Given the description of an element on the screen output the (x, y) to click on. 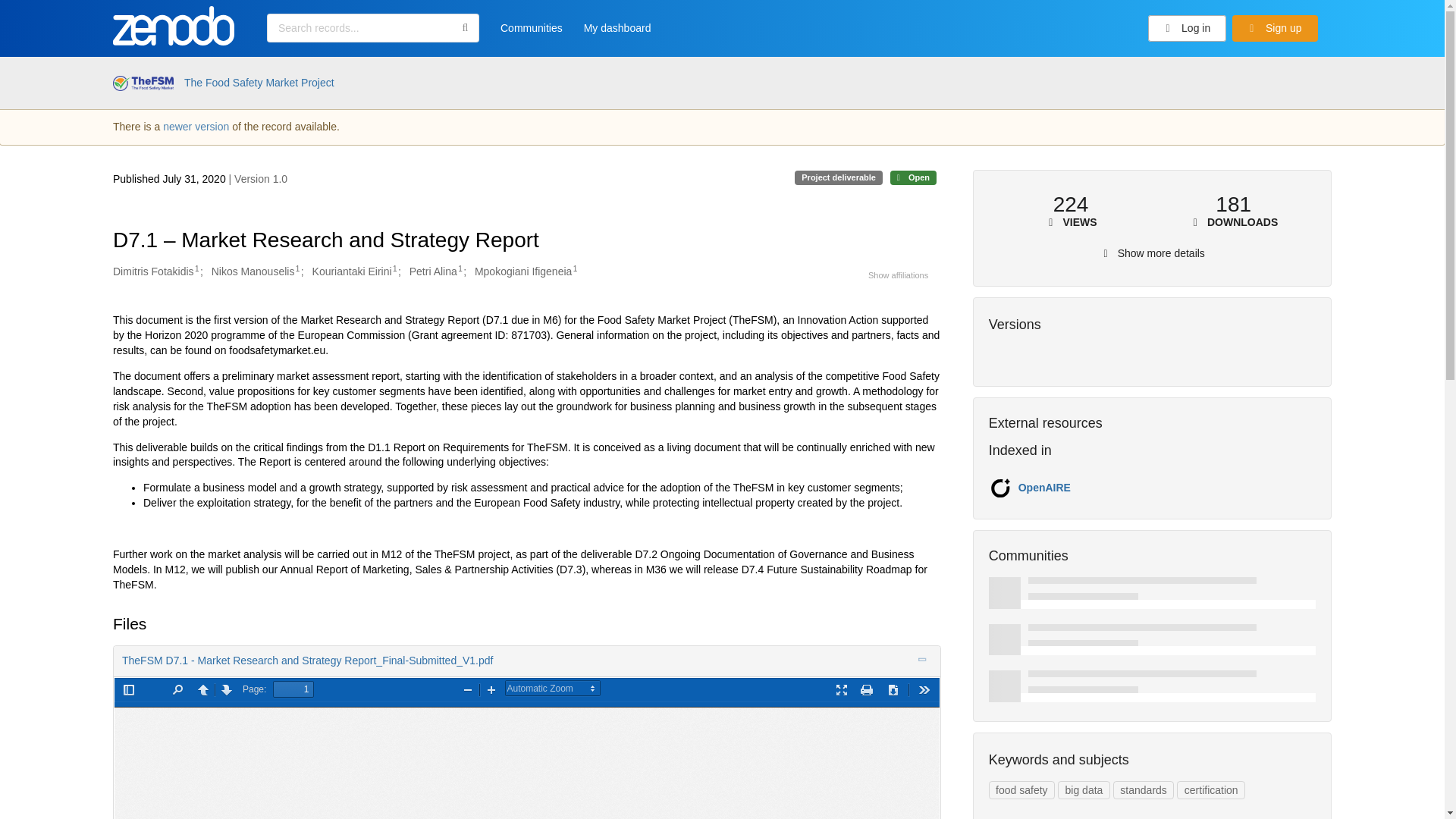
Skip to main (49, 17)
newer version (195, 126)
Dimitris Fotakidis1 (156, 272)
big data (1083, 790)
Communities (531, 32)
Mpokogiani Ifigeneia1 (525, 272)
Sign up (1274, 28)
certification (1210, 790)
OpenAIRE (1043, 487)
standards (1143, 790)
The Food Safety Market Project (259, 83)
Search results for food safety (1021, 790)
Log in (1187, 28)
Show affiliations (898, 274)
Publication date (170, 178)
